Given the description of an element on the screen output the (x, y) to click on. 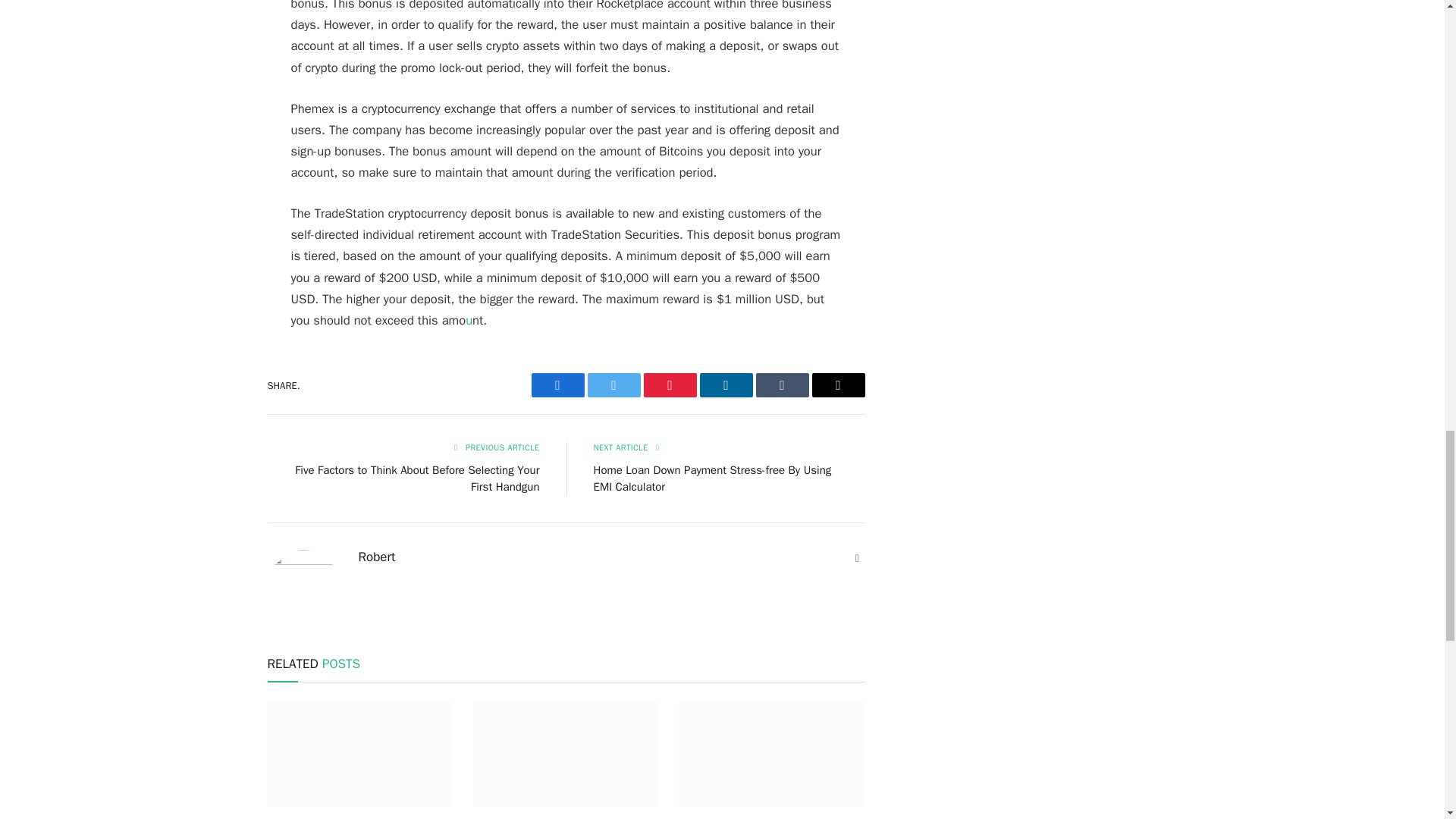
Pinterest (669, 385)
Twitter (613, 385)
Facebook (557, 385)
LinkedIn (725, 385)
